Given the description of an element on the screen output the (x, y) to click on. 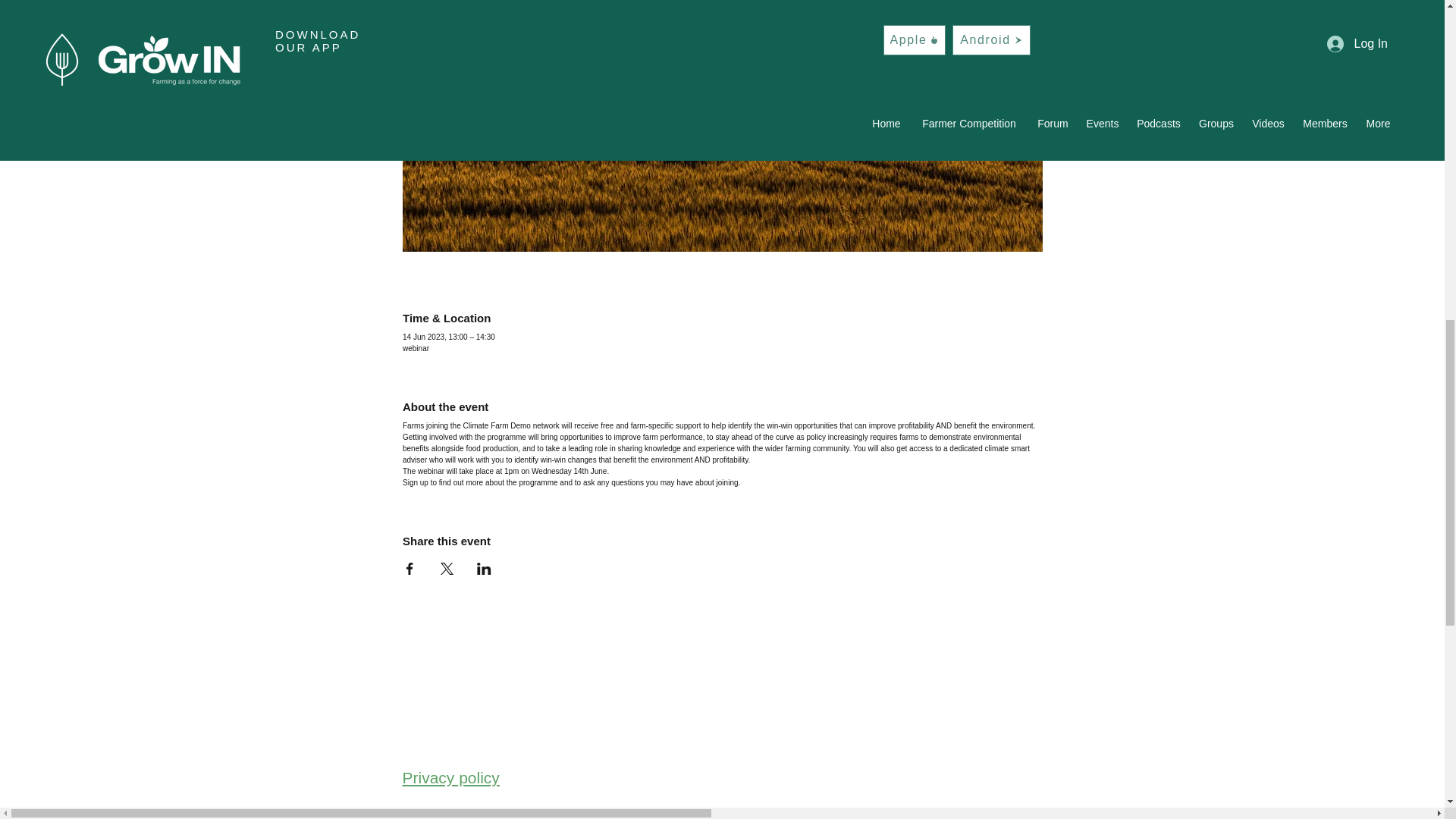
Privacy policy (450, 777)
